Given the description of an element on the screen output the (x, y) to click on. 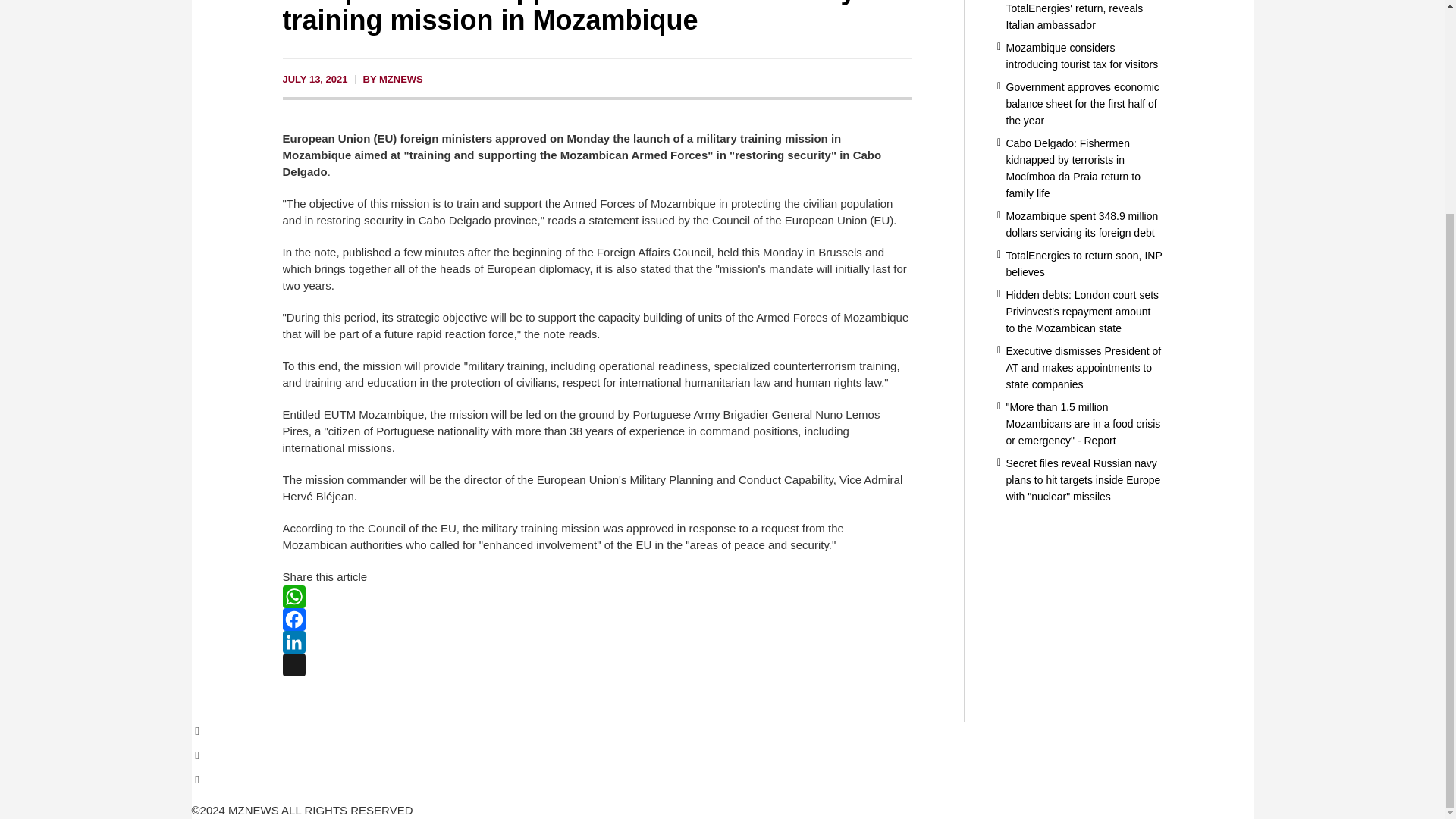
LinkedIn (596, 641)
LinkedIn (596, 641)
Posts by MZNews (400, 79)
Facebook (596, 619)
MZNEWS (400, 79)
X (596, 664)
WhatsApp (596, 596)
Mozambique considers introducing tourist tax for visitors (1081, 55)
